Given the description of an element on the screen output the (x, y) to click on. 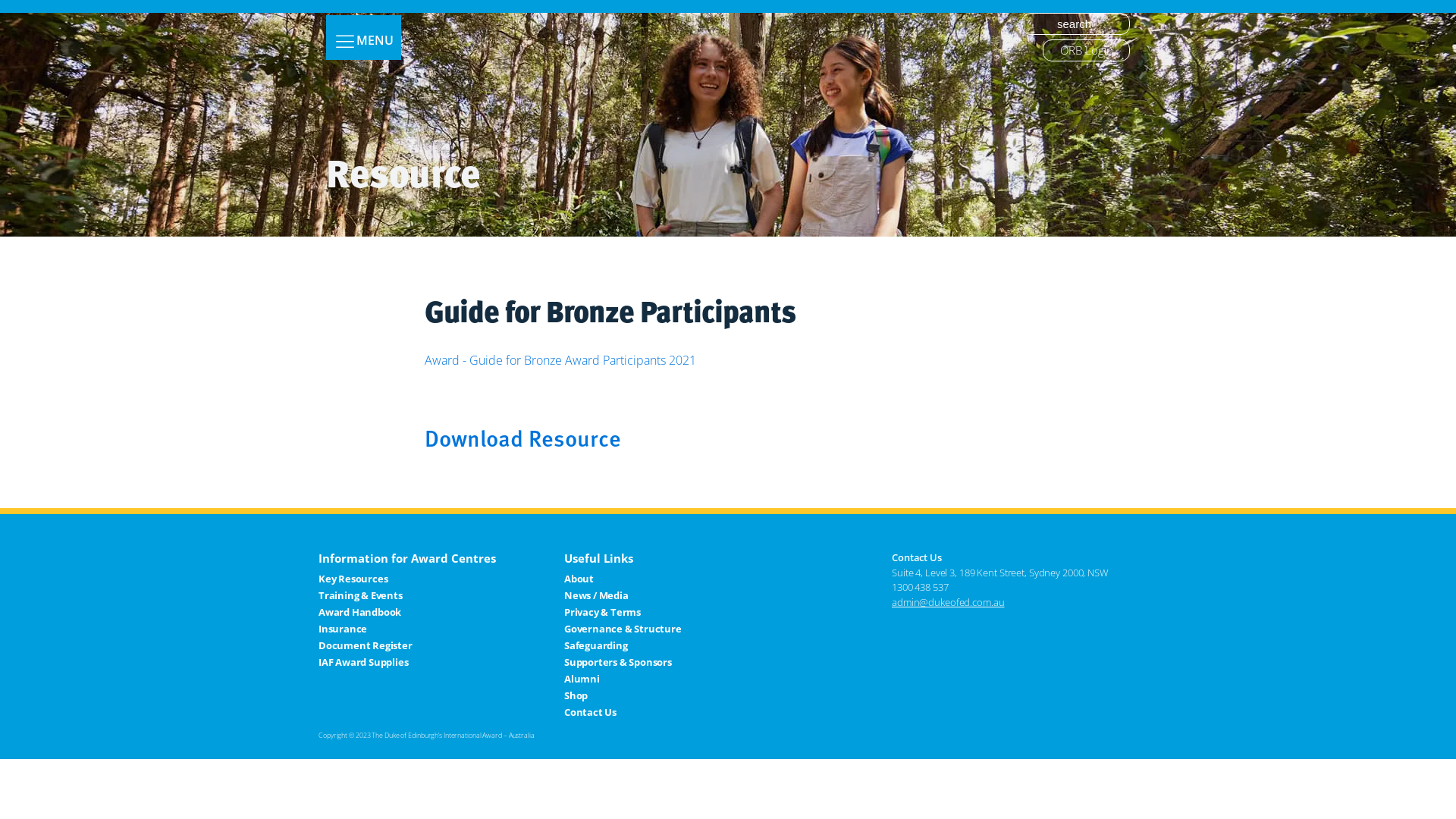
Privacy & Terms Element type: text (622, 611)
1300 438 537 Element type: text (919, 586)
Supporters & Sponsors Element type: text (622, 661)
Safeguarding Element type: text (622, 645)
Submit Element type: text (25, 9)
Download Resource Element type: text (522, 437)
News / Media Element type: text (622, 595)
Shop Element type: text (622, 695)
Award Handbook Element type: text (365, 611)
Training & Events Element type: text (365, 595)
Search for: Element type: hover (1075, 23)
About Element type: text (622, 578)
Alumni Element type: text (622, 678)
Insurance Element type: text (365, 628)
IAF Award Supplies Element type: text (365, 661)
Award - Guide for Bronze Award Participants 2021 Element type: text (560, 359)
Contact Us Element type: text (622, 711)
Document Register Element type: text (365, 645)
ORB Login Element type: text (1085, 50)
admin@dukeofed.com.au Element type: text (947, 601)
Governance & Structure Element type: text (622, 628)
Key Resources Element type: text (365, 578)
